Given the description of an element on the screen output the (x, y) to click on. 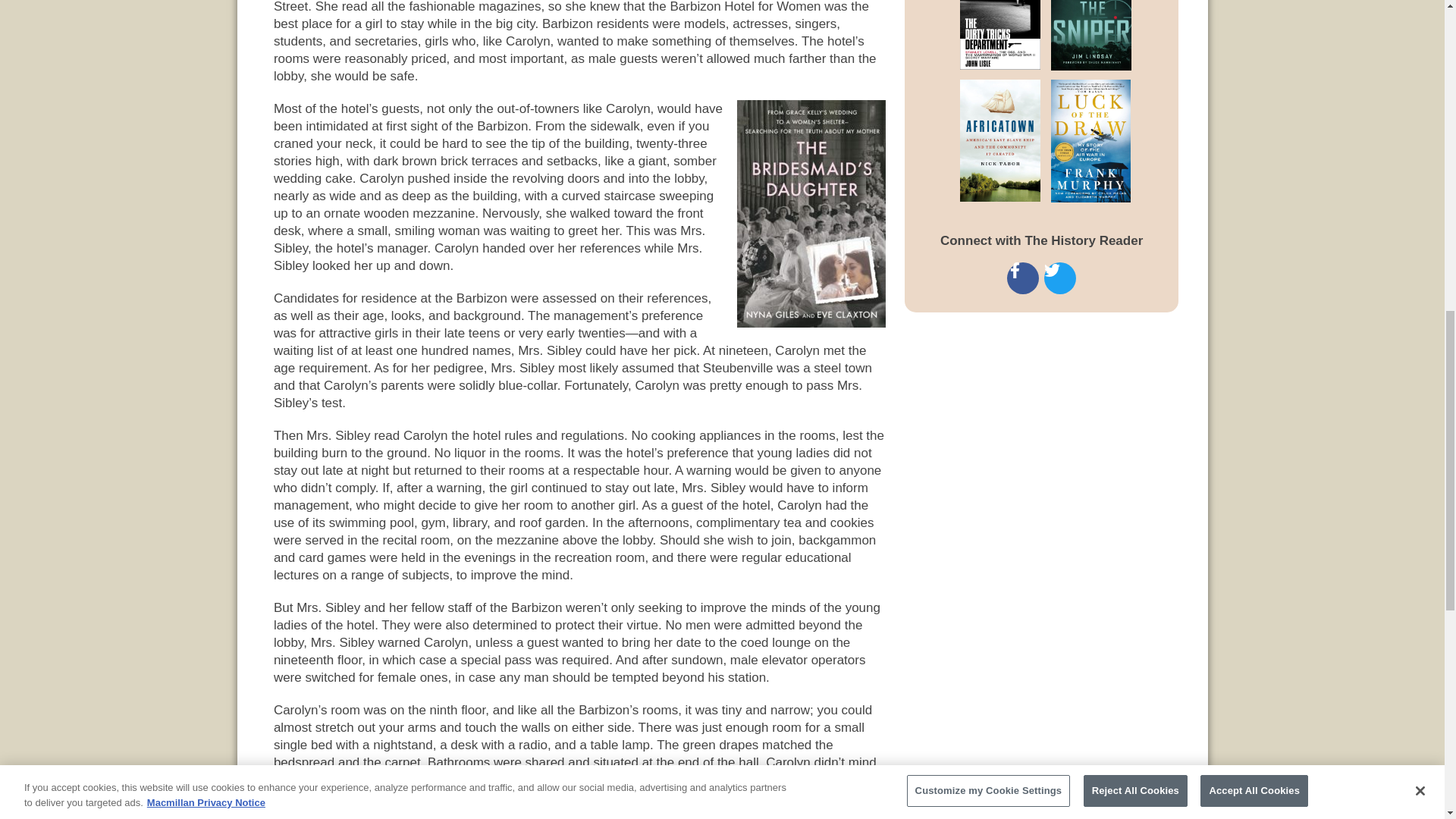
sniper jim lindsay (1101, 35)
the dirty tricks (981, 34)
